Given the description of an element on the screen output the (x, y) to click on. 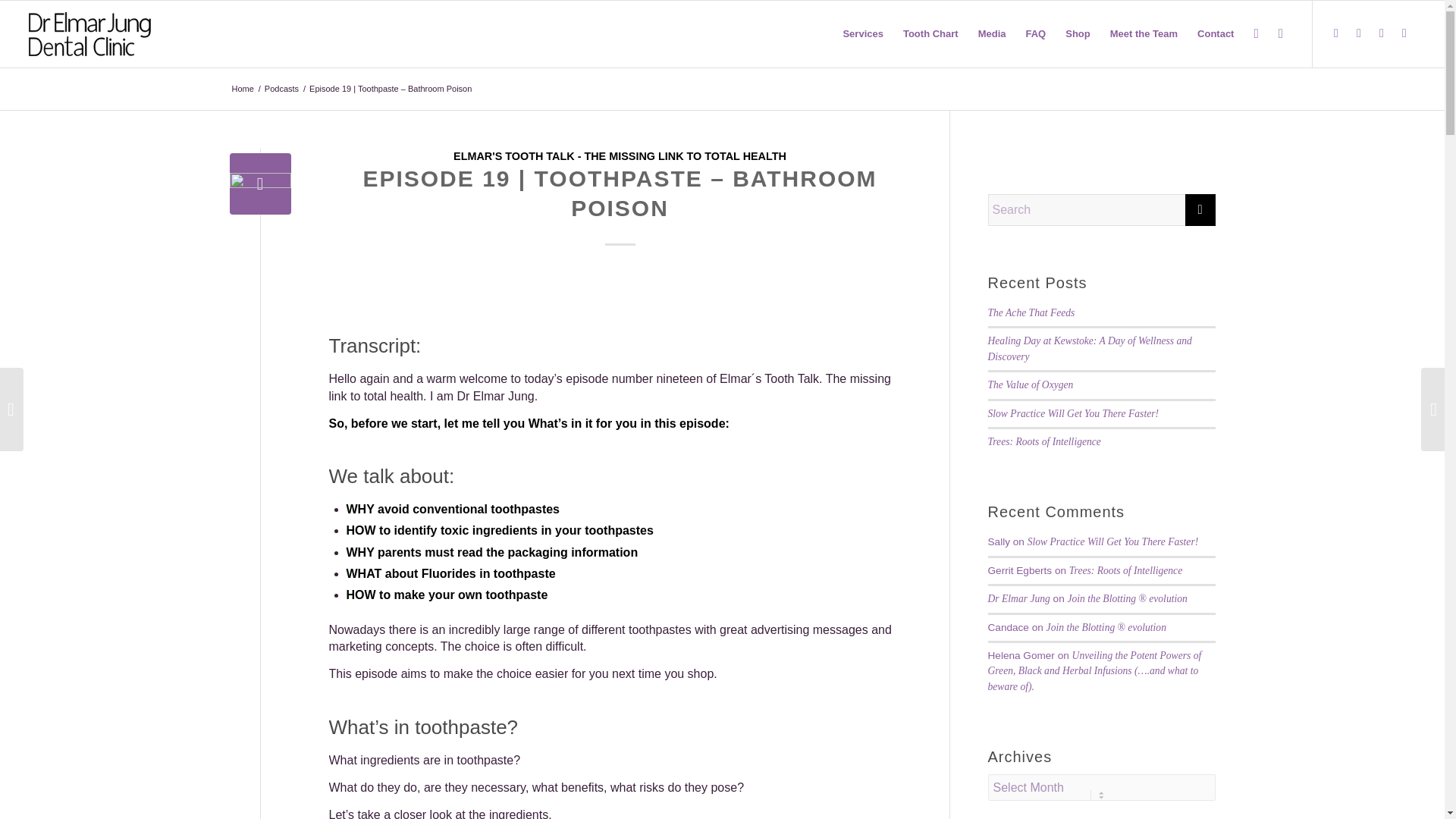
Tooth Chart (930, 33)
Podcasts (281, 89)
X (1359, 33)
Meet the Team (1144, 33)
Dr-Elmar-Jung-Logo (90, 34)
Youtube (1381, 33)
Home (242, 89)
Dr-Elmar-Jung-Logo (90, 34)
Facebook (1336, 33)
Dr Elmar Jung (242, 89)
